Given the description of an element on the screen output the (x, y) to click on. 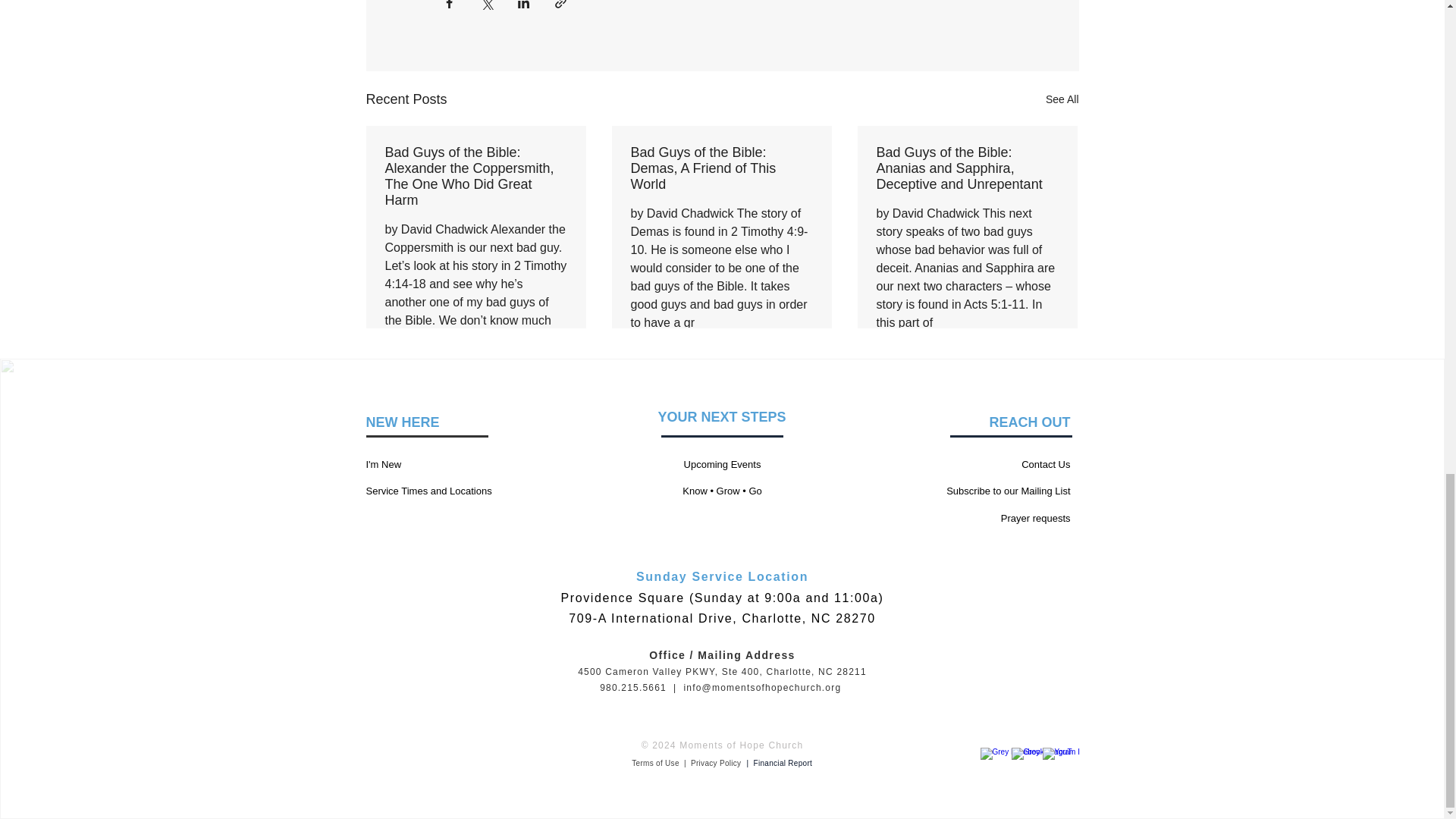
I'm New (383, 464)
Upcoming Events (722, 464)
Bad Guys of the Bible: Demas, A Friend of This World (721, 168)
Service Times and Locations (428, 490)
See All (1061, 99)
